Given the description of an element on the screen output the (x, y) to click on. 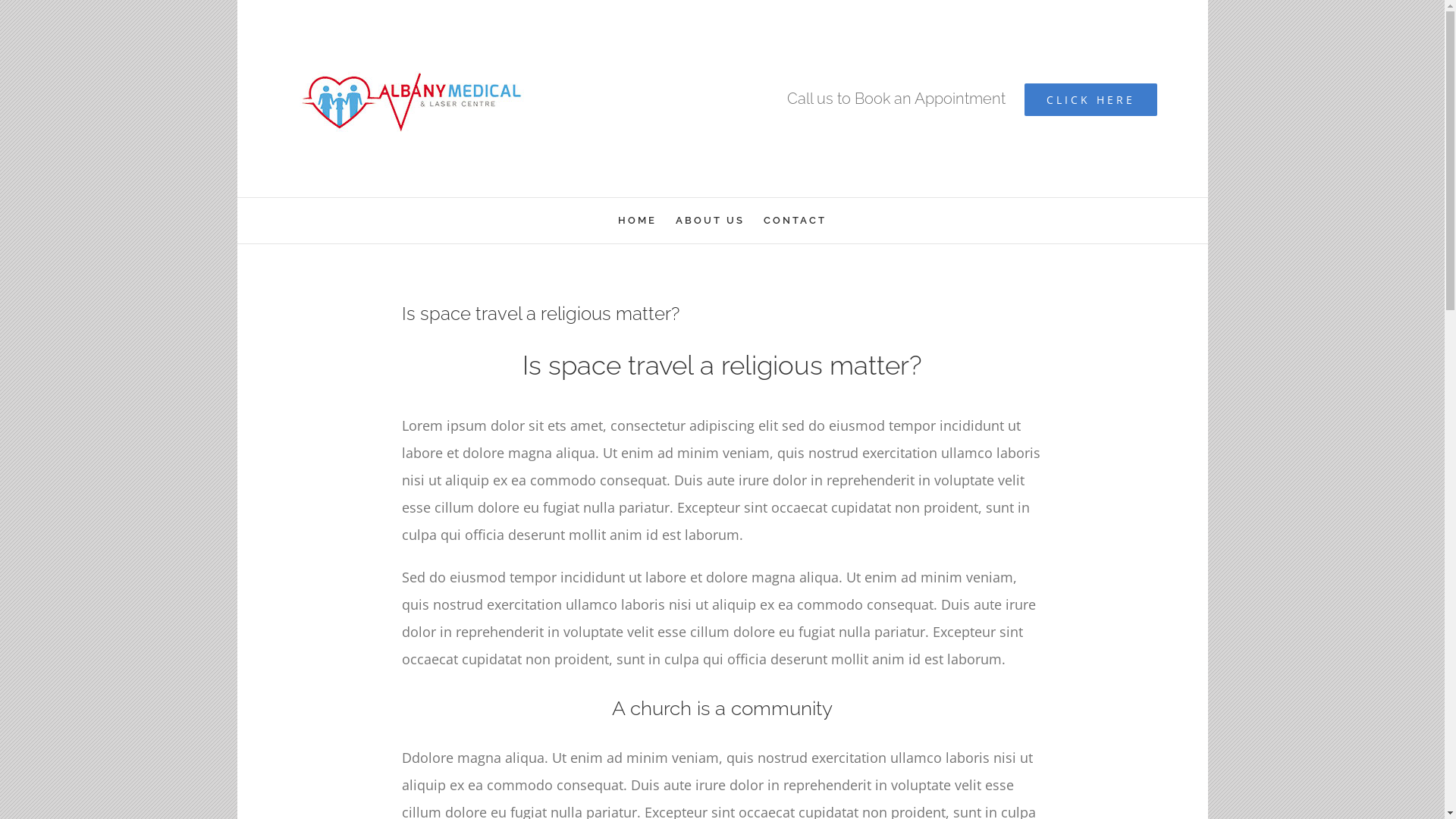
CONTACT Element type: text (794, 220)
ABOUT US Element type: text (709, 220)
HOME Element type: text (637, 220)
CLICK HERE Element type: text (1090, 99)
